Given the description of an element on the screen output the (x, y) to click on. 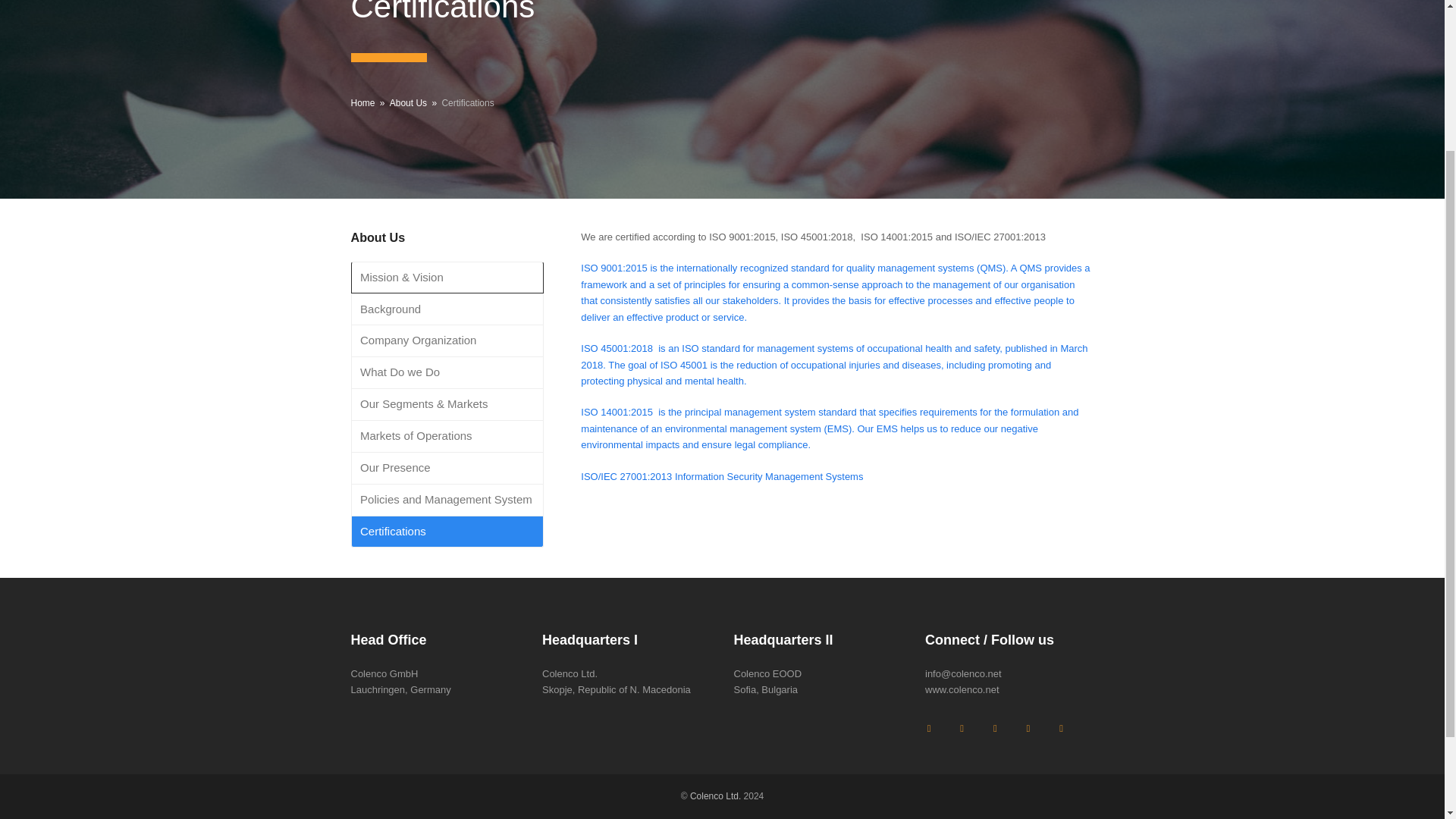
Instagram (961, 728)
Facebook (928, 728)
Youtube (1061, 728)
Twitter (1028, 728)
LinkedIn (994, 728)
